Given the description of an element on the screen output the (x, y) to click on. 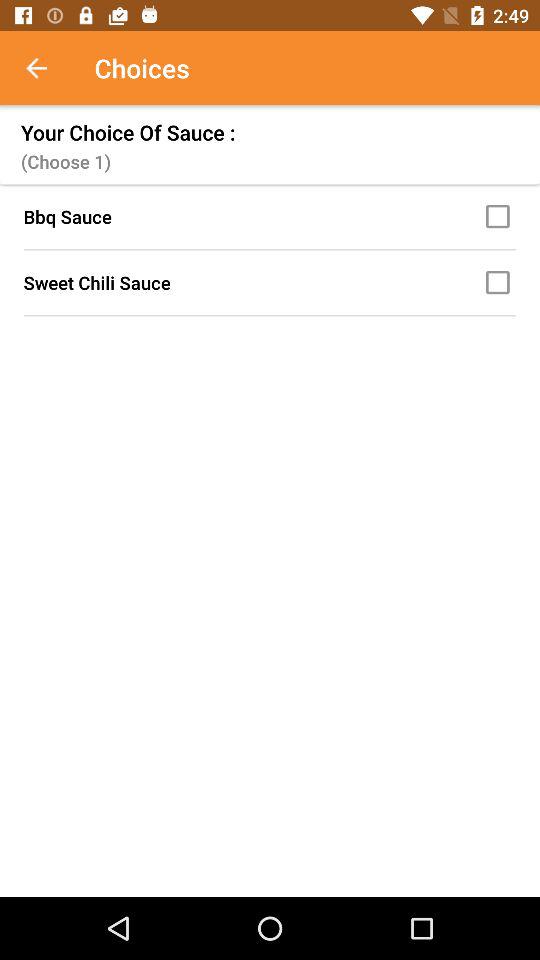
choose sweet chili sauce (501, 282)
